Given the description of an element on the screen output the (x, y) to click on. 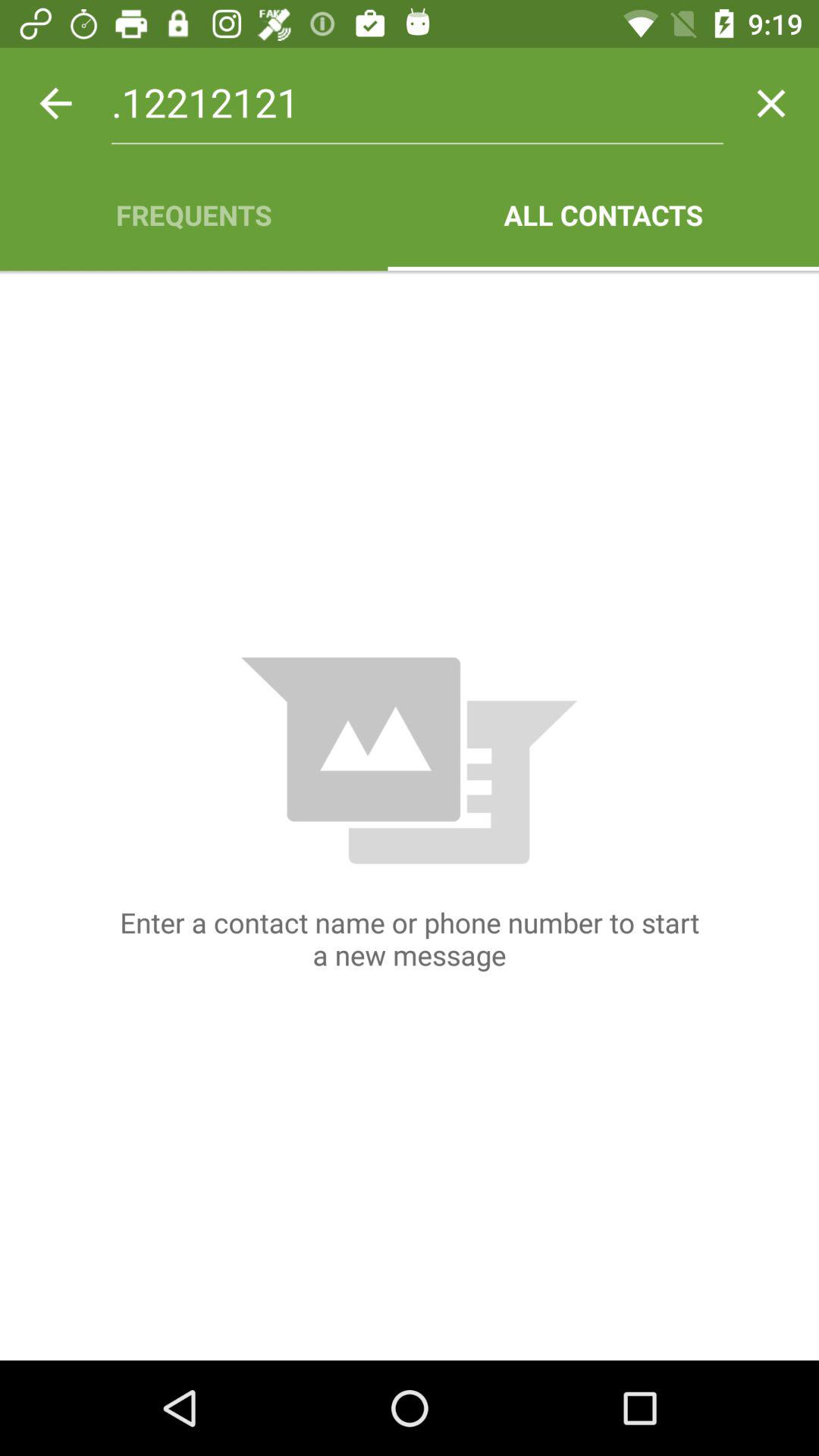
swipe to all contacts item (603, 214)
